Given the description of an element on the screen output the (x, y) to click on. 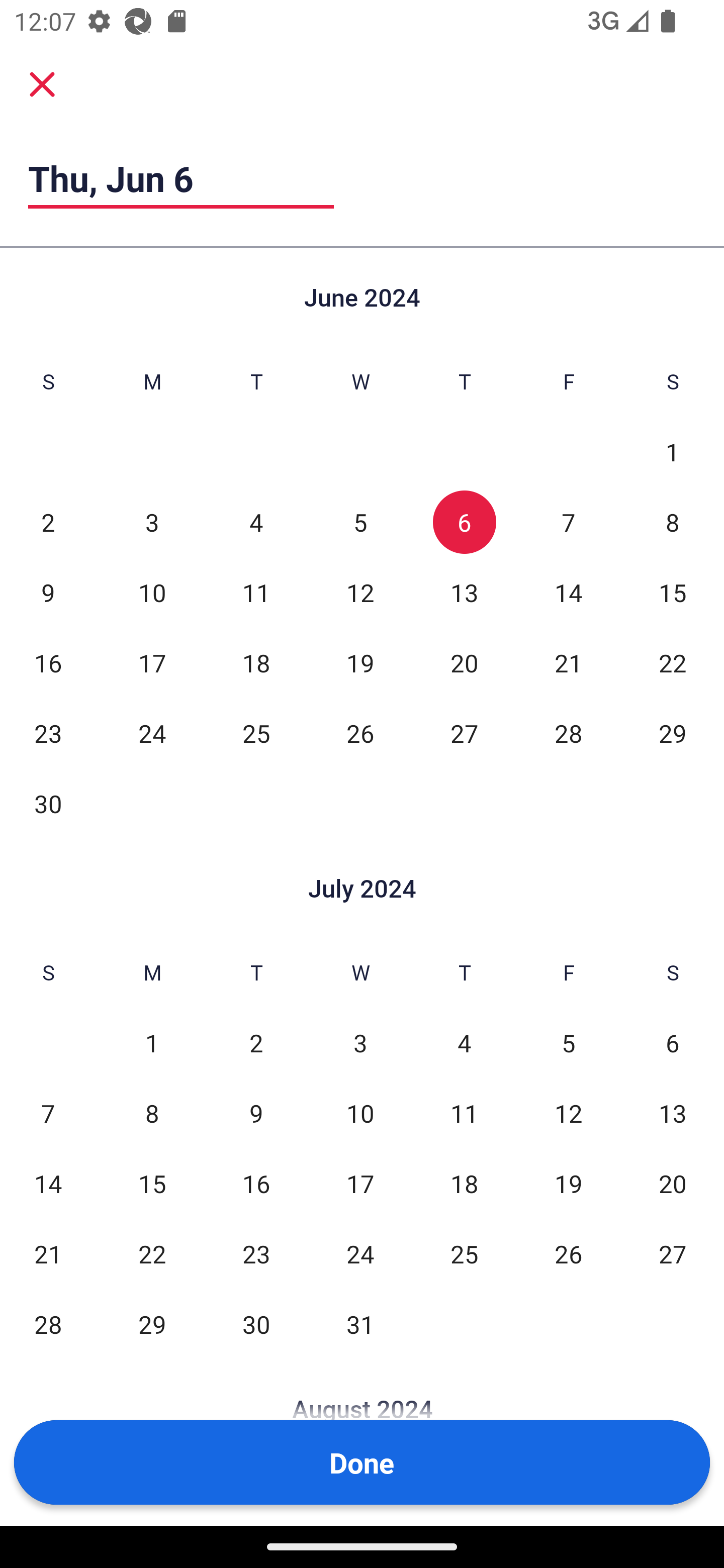
Cancel (42, 84)
Thu, Jun 6 (180, 178)
1 Sat, Jun 1, Not Selected (672, 452)
2 Sun, Jun 2, Not Selected (48, 521)
3 Mon, Jun 3, Not Selected (152, 521)
4 Tue, Jun 4, Not Selected (256, 521)
5 Wed, Jun 5, Not Selected (360, 521)
6 Thu, Jun 6, Selected (464, 521)
7 Fri, Jun 7, Not Selected (568, 521)
8 Sat, Jun 8, Not Selected (672, 521)
9 Sun, Jun 9, Not Selected (48, 591)
10 Mon, Jun 10, Not Selected (152, 591)
11 Tue, Jun 11, Not Selected (256, 591)
12 Wed, Jun 12, Not Selected (360, 591)
13 Thu, Jun 13, Not Selected (464, 591)
14 Fri, Jun 14, Not Selected (568, 591)
15 Sat, Jun 15, Not Selected (672, 591)
16 Sun, Jun 16, Not Selected (48, 662)
17 Mon, Jun 17, Not Selected (152, 662)
18 Tue, Jun 18, Not Selected (256, 662)
19 Wed, Jun 19, Not Selected (360, 662)
20 Thu, Jun 20, Not Selected (464, 662)
21 Fri, Jun 21, Not Selected (568, 662)
22 Sat, Jun 22, Not Selected (672, 662)
23 Sun, Jun 23, Not Selected (48, 732)
24 Mon, Jun 24, Not Selected (152, 732)
25 Tue, Jun 25, Not Selected (256, 732)
26 Wed, Jun 26, Not Selected (360, 732)
27 Thu, Jun 27, Not Selected (464, 732)
28 Fri, Jun 28, Not Selected (568, 732)
29 Sat, Jun 29, Not Selected (672, 732)
30 Sun, Jun 30, Not Selected (48, 803)
1 Mon, Jul 1, Not Selected (152, 1043)
2 Tue, Jul 2, Not Selected (256, 1043)
3 Wed, Jul 3, Not Selected (360, 1043)
4 Thu, Jul 4, Not Selected (464, 1043)
5 Fri, Jul 5, Not Selected (568, 1043)
6 Sat, Jul 6, Not Selected (672, 1043)
7 Sun, Jul 7, Not Selected (48, 1112)
8 Mon, Jul 8, Not Selected (152, 1112)
9 Tue, Jul 9, Not Selected (256, 1112)
10 Wed, Jul 10, Not Selected (360, 1112)
11 Thu, Jul 11, Not Selected (464, 1112)
12 Fri, Jul 12, Not Selected (568, 1112)
13 Sat, Jul 13, Not Selected (672, 1112)
14 Sun, Jul 14, Not Selected (48, 1182)
15 Mon, Jul 15, Not Selected (152, 1182)
16 Tue, Jul 16, Not Selected (256, 1182)
17 Wed, Jul 17, Not Selected (360, 1182)
18 Thu, Jul 18, Not Selected (464, 1182)
19 Fri, Jul 19, Not Selected (568, 1182)
20 Sat, Jul 20, Not Selected (672, 1182)
21 Sun, Jul 21, Not Selected (48, 1253)
22 Mon, Jul 22, Not Selected (152, 1253)
23 Tue, Jul 23, Not Selected (256, 1253)
24 Wed, Jul 24, Not Selected (360, 1253)
25 Thu, Jul 25, Not Selected (464, 1253)
26 Fri, Jul 26, Not Selected (568, 1253)
27 Sat, Jul 27, Not Selected (672, 1253)
28 Sun, Jul 28, Not Selected (48, 1323)
29 Mon, Jul 29, Not Selected (152, 1323)
30 Tue, Jul 30, Not Selected (256, 1323)
31 Wed, Jul 31, Not Selected (360, 1323)
Done Button Done (361, 1462)
